Given the description of an element on the screen output the (x, y) to click on. 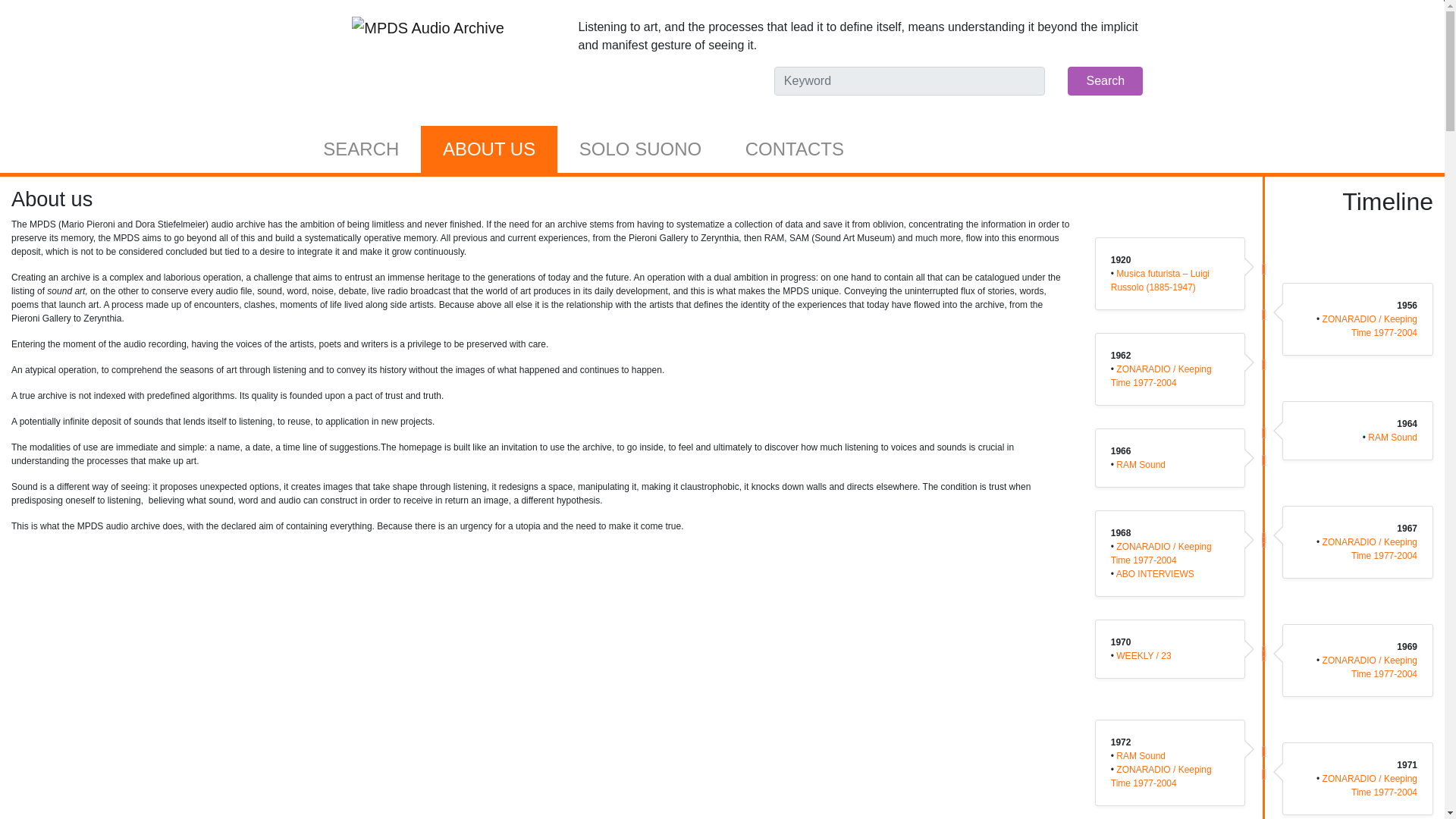
Contacts (794, 149)
CONTACTS (794, 149)
SOLO SUONO (640, 149)
RAM Sound (1141, 756)
RAM Sound (1141, 464)
ABO INTERVIEWS (1154, 573)
ABOUT US (488, 149)
SEARCH (361, 149)
RAM Sound (1392, 437)
Search (1104, 80)
About us (488, 149)
Search (361, 149)
SOLO SUONO (640, 149)
